Given the description of an element on the screen output the (x, y) to click on. 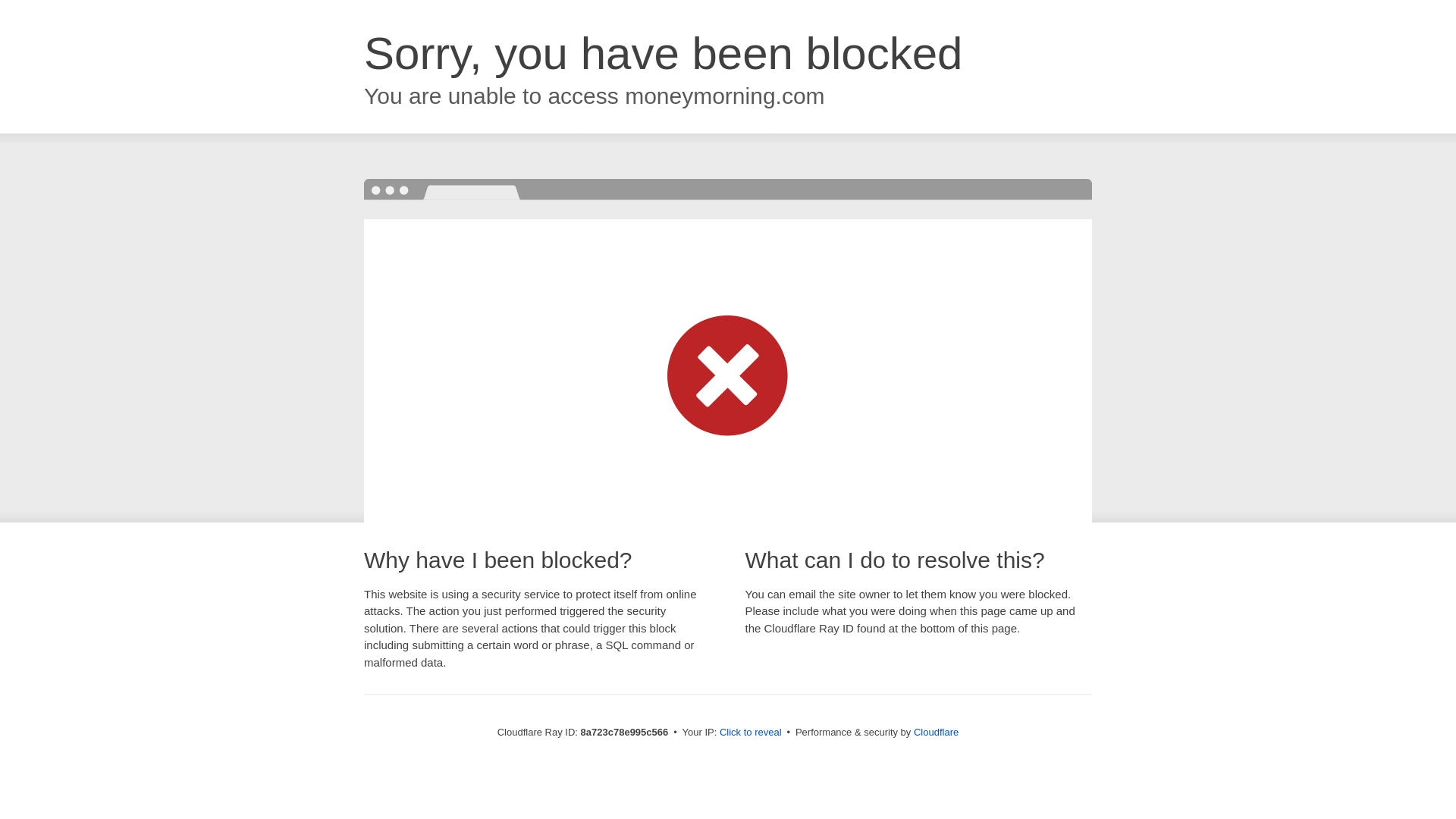
Cloudflare (936, 731)
Click to reveal (750, 732)
